Given the description of an element on the screen output the (x, y) to click on. 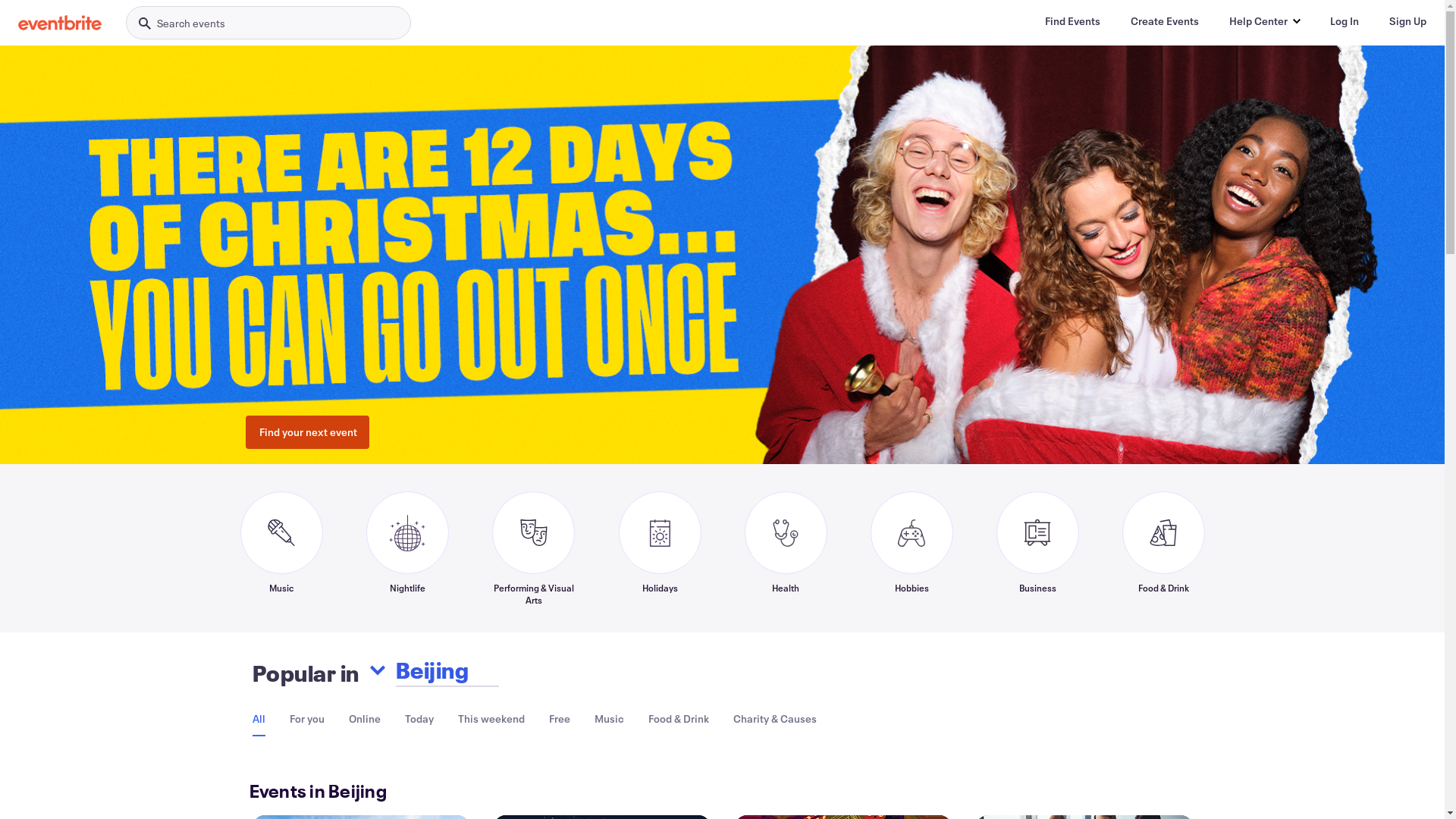
Food & Drink Element type: text (1163, 548)
Music Element type: text (609, 718)
Log In Element type: text (1344, 21)
Search events Element type: text (268, 22)
Eventbrite Element type: hover (59, 22)
Sign Up Element type: text (1407, 21)
Find Events Element type: text (1072, 21)
Performing & Visual Arts Element type: text (532, 548)
This weekend Element type: text (491, 718)
Free Element type: text (559, 718)
Business Element type: text (1037, 548)
Music Element type: text (280, 548)
Health Element type: text (785, 548)
All Element type: text (257, 719)
Food & Drink Element type: text (677, 718)
Online Element type: text (364, 718)
Today Element type: text (418, 718)
Nightlife Element type: text (406, 548)
Holidays Element type: text (659, 548)
For you Element type: text (306, 718)
Hobbies Element type: text (911, 548)
Charity & Causes Element type: text (773, 718)
Find your next event Element type: text (307, 431)
Create Events Element type: text (1164, 21)
